Given the description of an element on the screen output the (x, y) to click on. 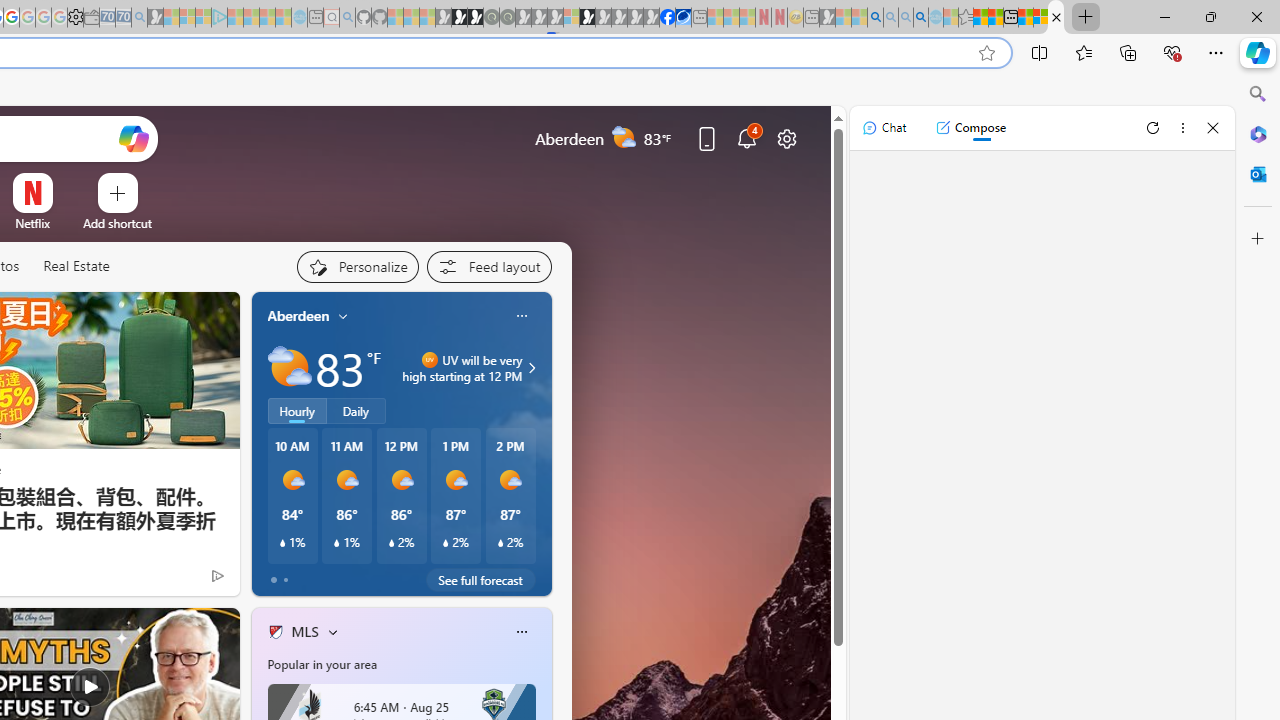
Bing AI - Search (875, 17)
See full forecast (480, 579)
tab-0 (273, 579)
Page settings (786, 138)
Play Zoo Boom in your browser | Games from Microsoft Start (459, 17)
